Given the description of an element on the screen output the (x, y) to click on. 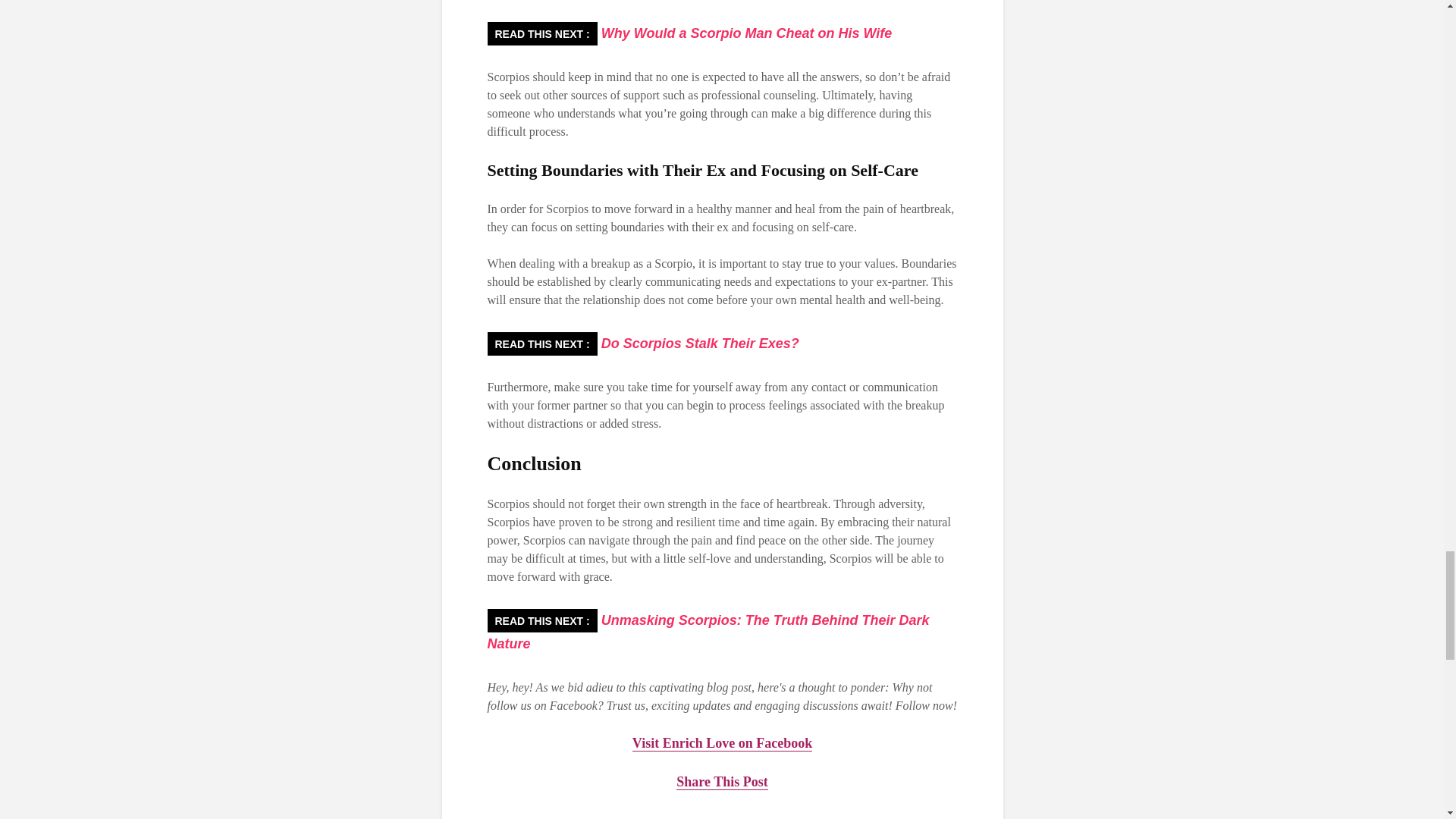
Unmasking Scorpios: The Truth Behind Their Dark Nature (707, 631)
Why Would a Scorpio Man Cheat on His Wife (744, 32)
Do Scorpios Stalk Their Exes? (697, 343)
